Given the description of an element on the screen output the (x, y) to click on. 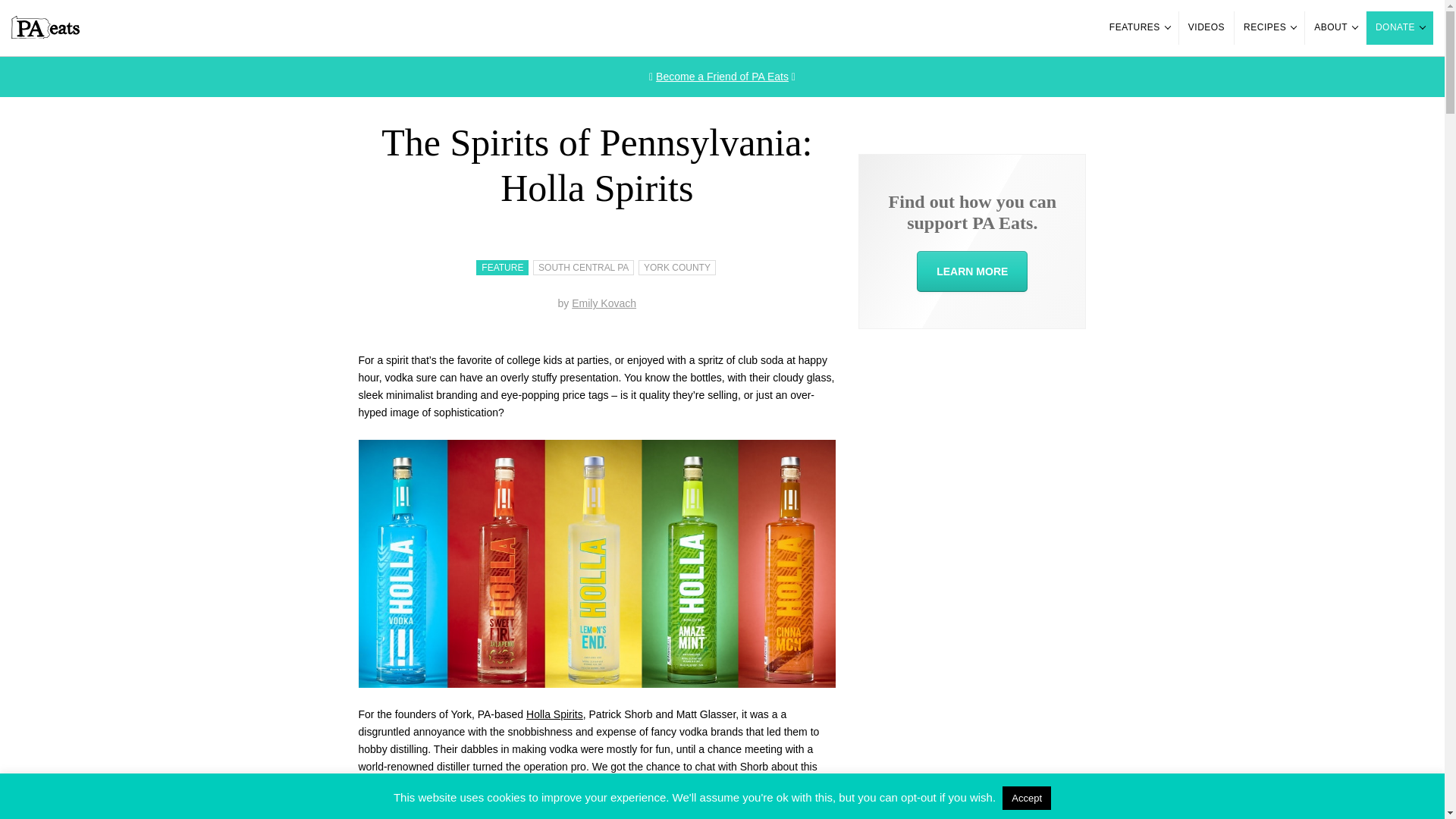
FEATURES (1138, 28)
RECIPES (1269, 28)
ABOUT (1334, 28)
DONATE (1399, 28)
PA Eats Logo (45, 34)
VIDEOS (1206, 28)
PA Eats Logo (45, 26)
